Given the description of an element on the screen output the (x, y) to click on. 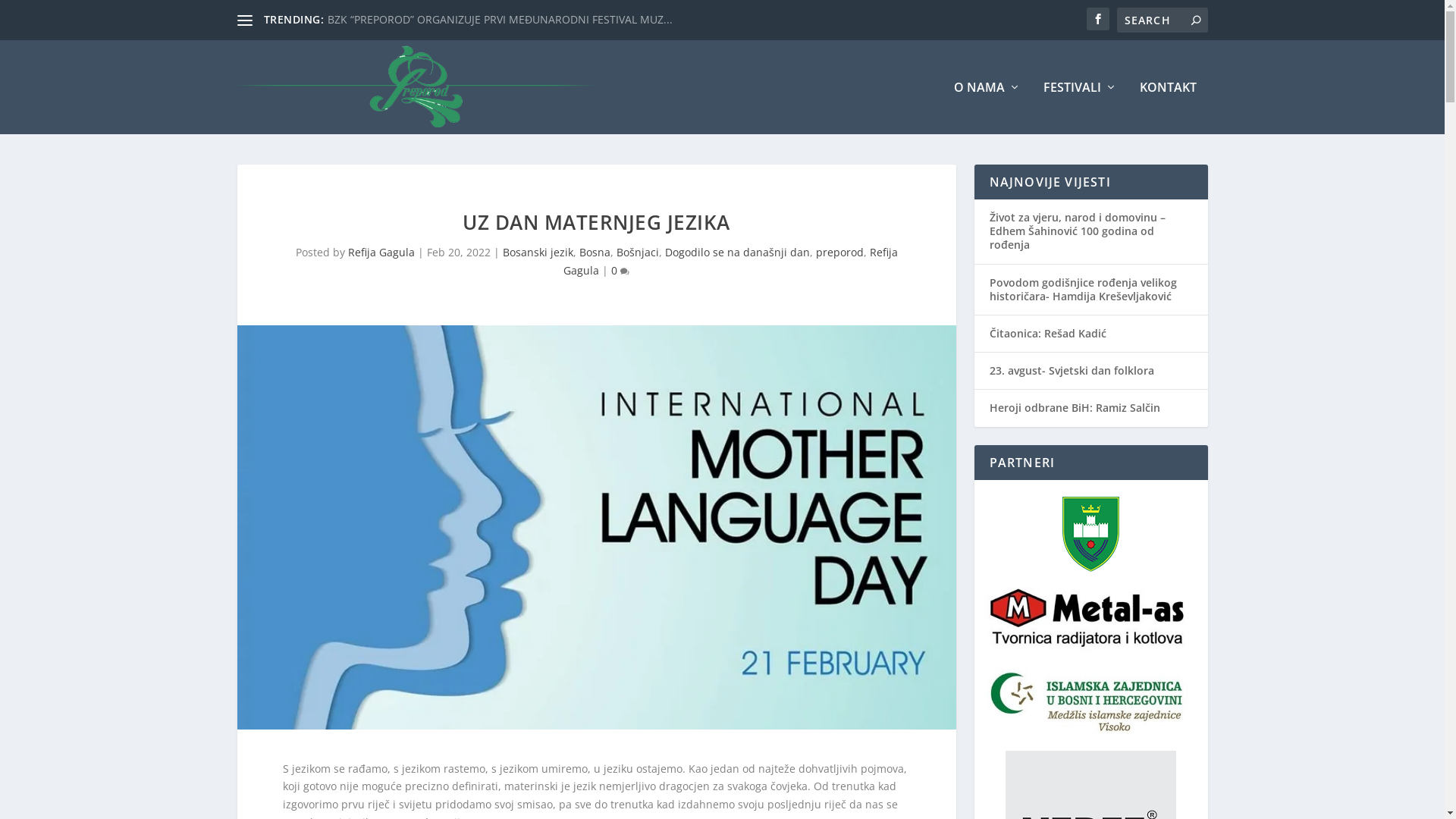
Refija Gagula Element type: text (730, 260)
preporod Element type: text (839, 251)
Bosanski jezik Element type: text (537, 251)
Bosna Element type: text (594, 251)
comment count Element type: hover (624, 271)
FESTIVALI Element type: text (1080, 107)
Search for: Element type: hover (1161, 19)
Refija Gagula Element type: text (380, 251)
O NAMA Element type: text (986, 107)
KONTAKT Element type: text (1167, 107)
0 Element type: text (620, 270)
23. avgust- Svjetski dan folklora Element type: text (1070, 370)
